Given the description of an element on the screen output the (x, y) to click on. 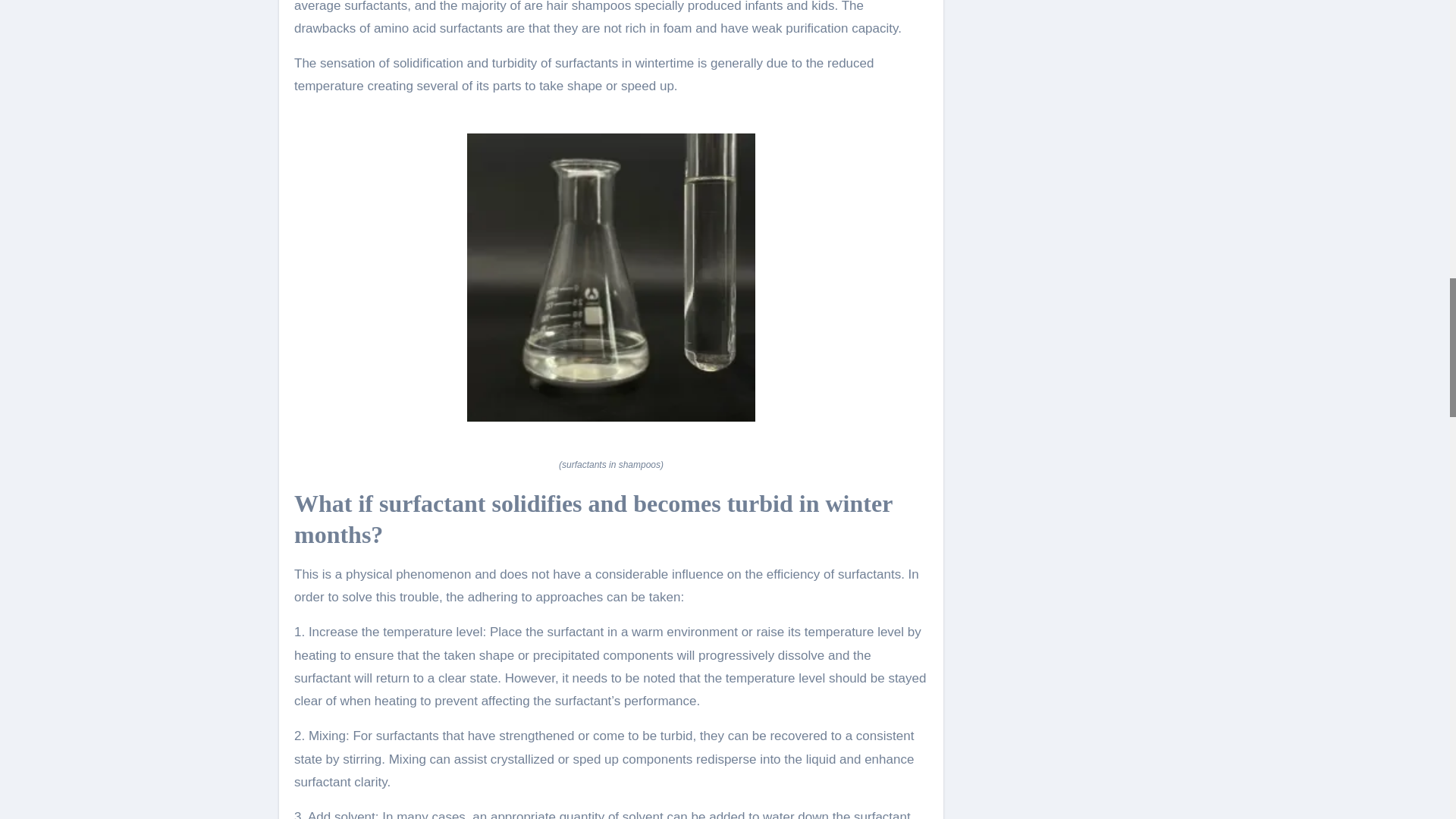
surfactants in shampoos (611, 368)
